Given the description of an element on the screen output the (x, y) to click on. 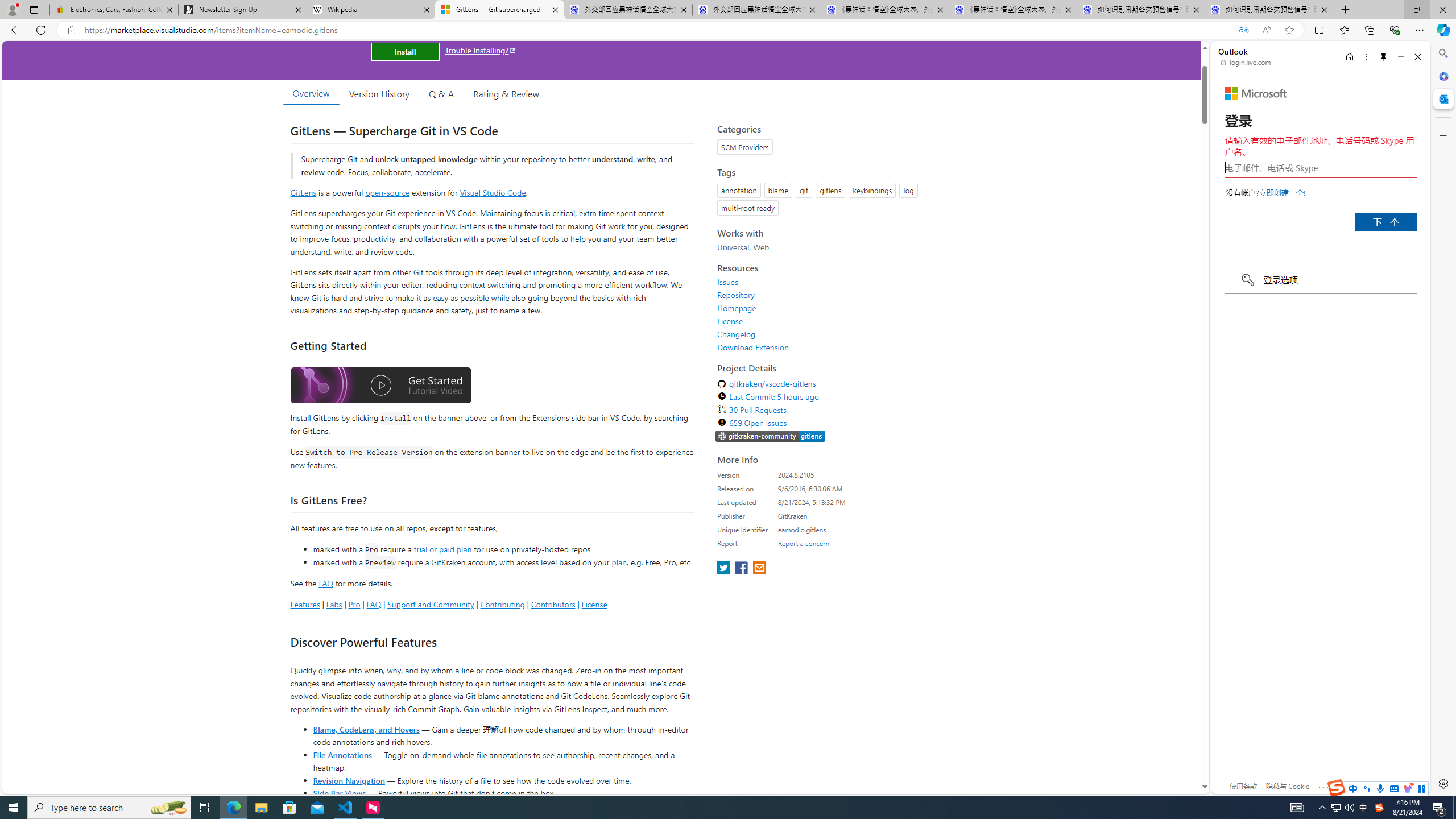
open-source (387, 192)
Download Extension (820, 346)
login.live.com (1246, 61)
Contributing (502, 603)
trial or paid plan (442, 548)
File Annotations (342, 754)
